Given the description of an element on the screen output the (x, y) to click on. 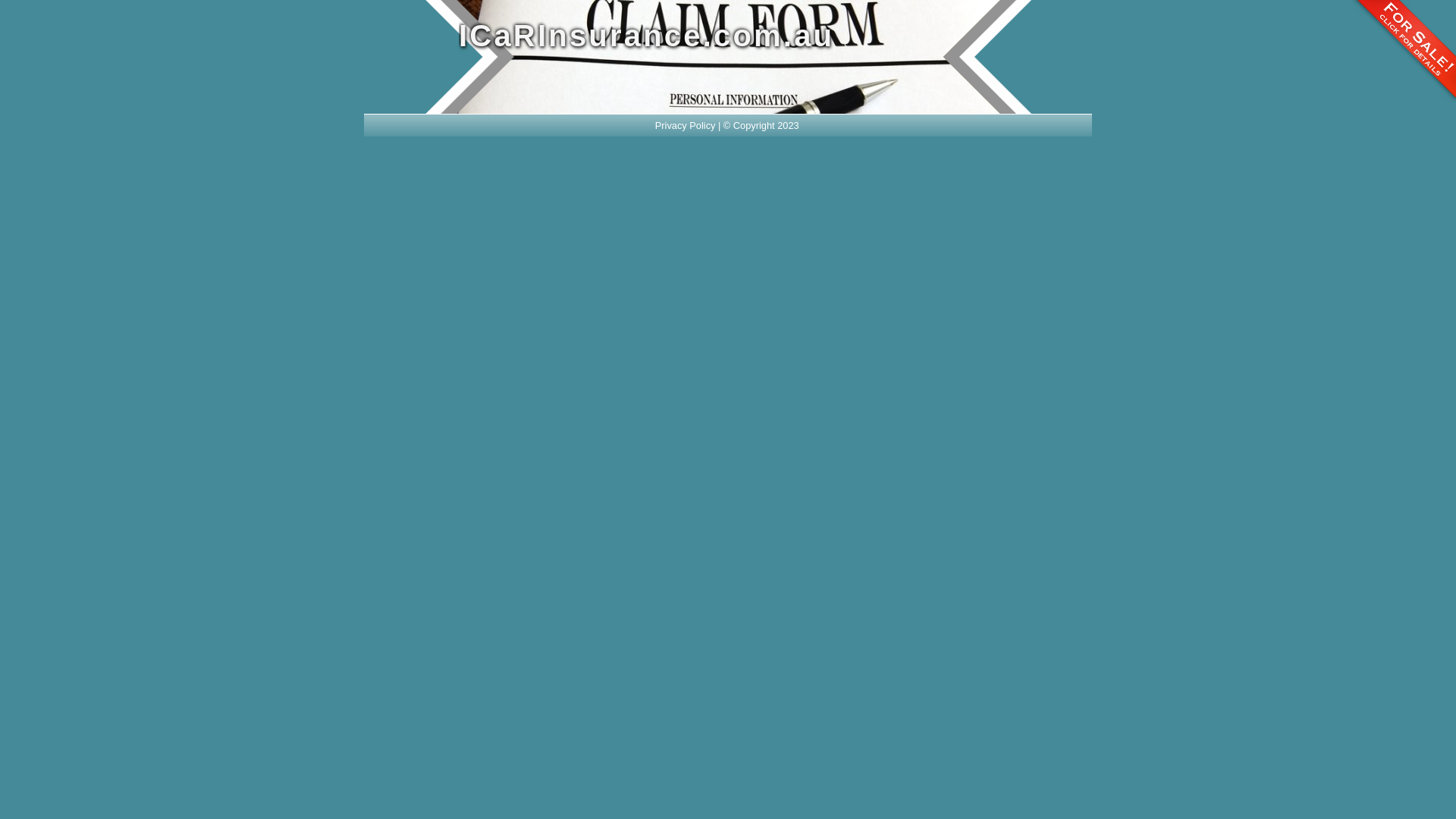
ICaRInsurance.com.au Element type: text (674, 35)
Privacy Policy Element type: text (685, 125)
